Given the description of an element on the screen output the (x, y) to click on. 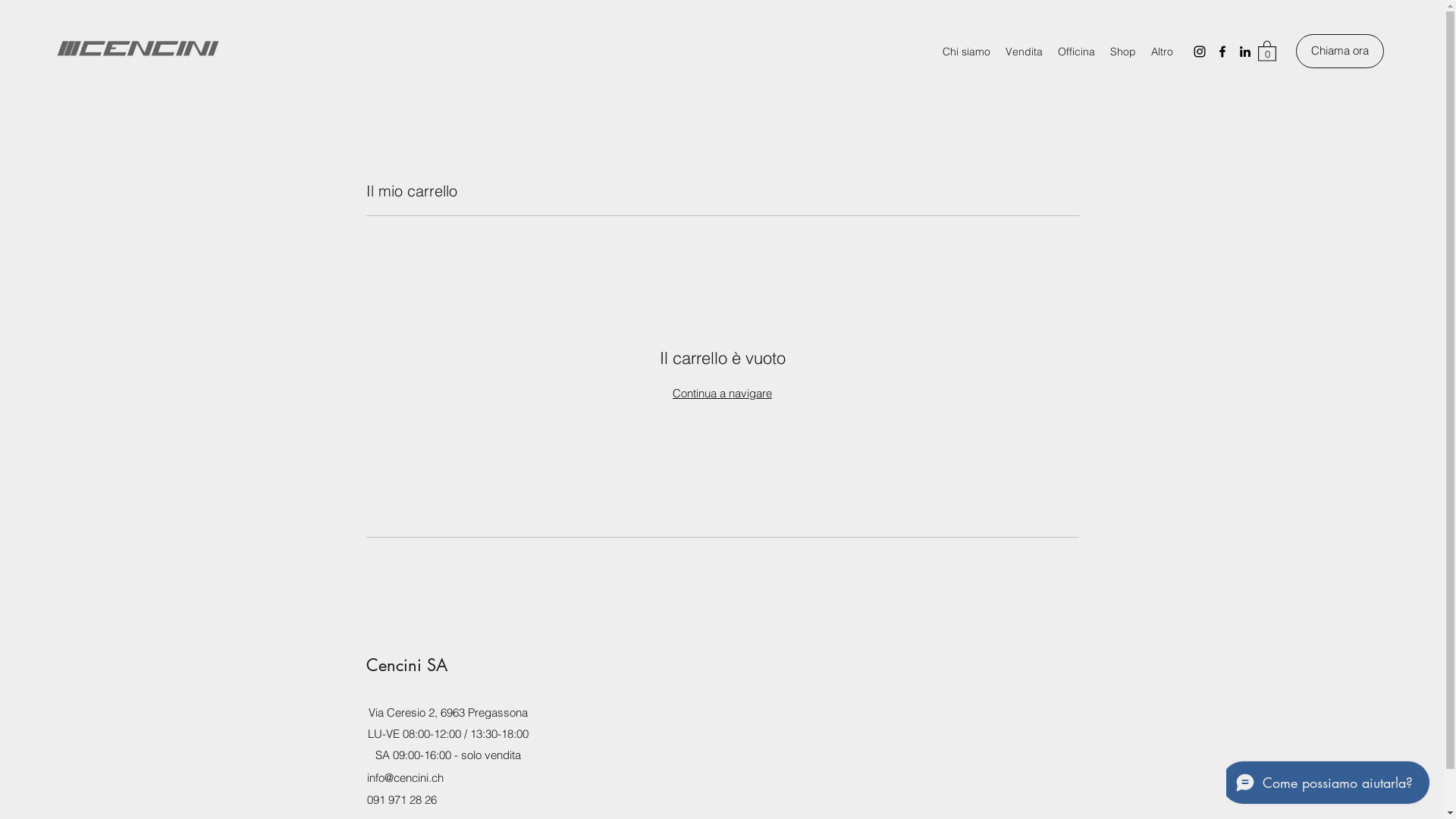
0 Element type: text (1267, 50)
Chi siamo Element type: text (966, 51)
Shop Element type: text (1122, 51)
Vendita Element type: text (1023, 51)
info@cencini.ch Element type: text (405, 777)
Continua a navigare Element type: text (721, 392)
Officina Element type: text (1076, 51)
Cencini SA Element type: text (405, 664)
Chiama ora Element type: text (1339, 51)
